Given the description of an element on the screen output the (x, y) to click on. 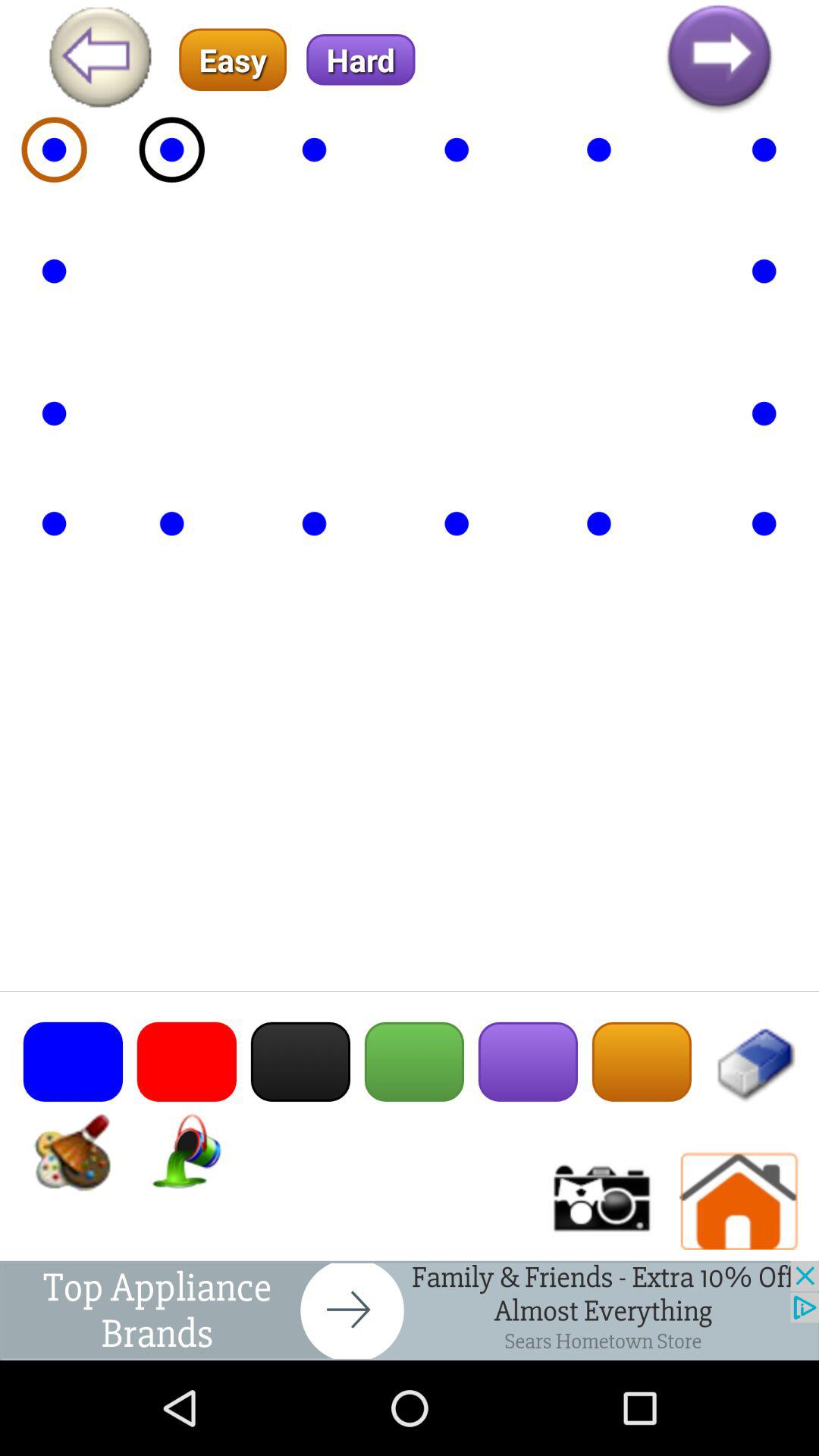
go to homepage (739, 1200)
